Given the description of an element on the screen output the (x, y) to click on. 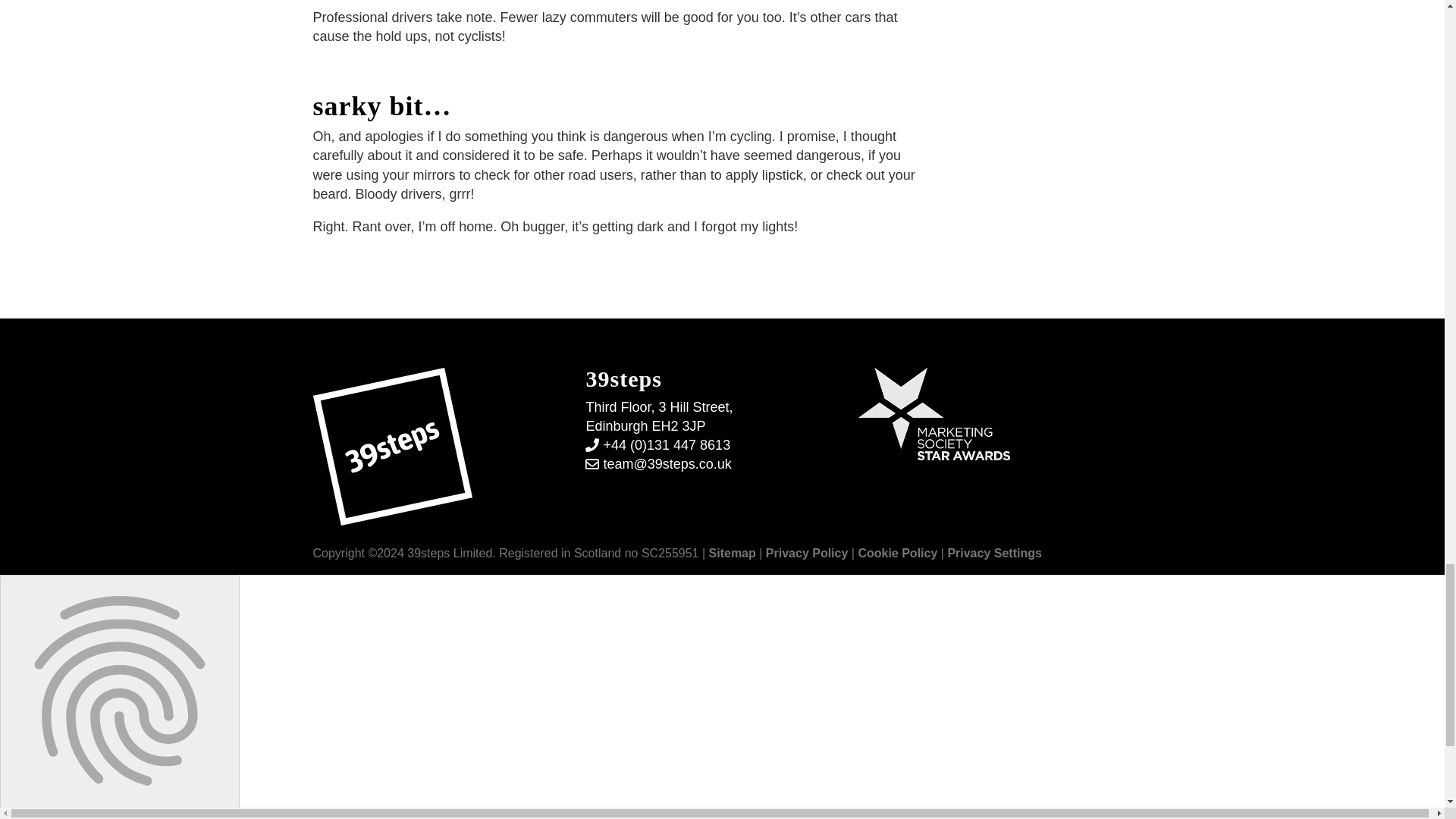
39steps logo for 39steps brand and web design Edinburgh (392, 446)
